Given the description of an element on the screen output the (x, y) to click on. 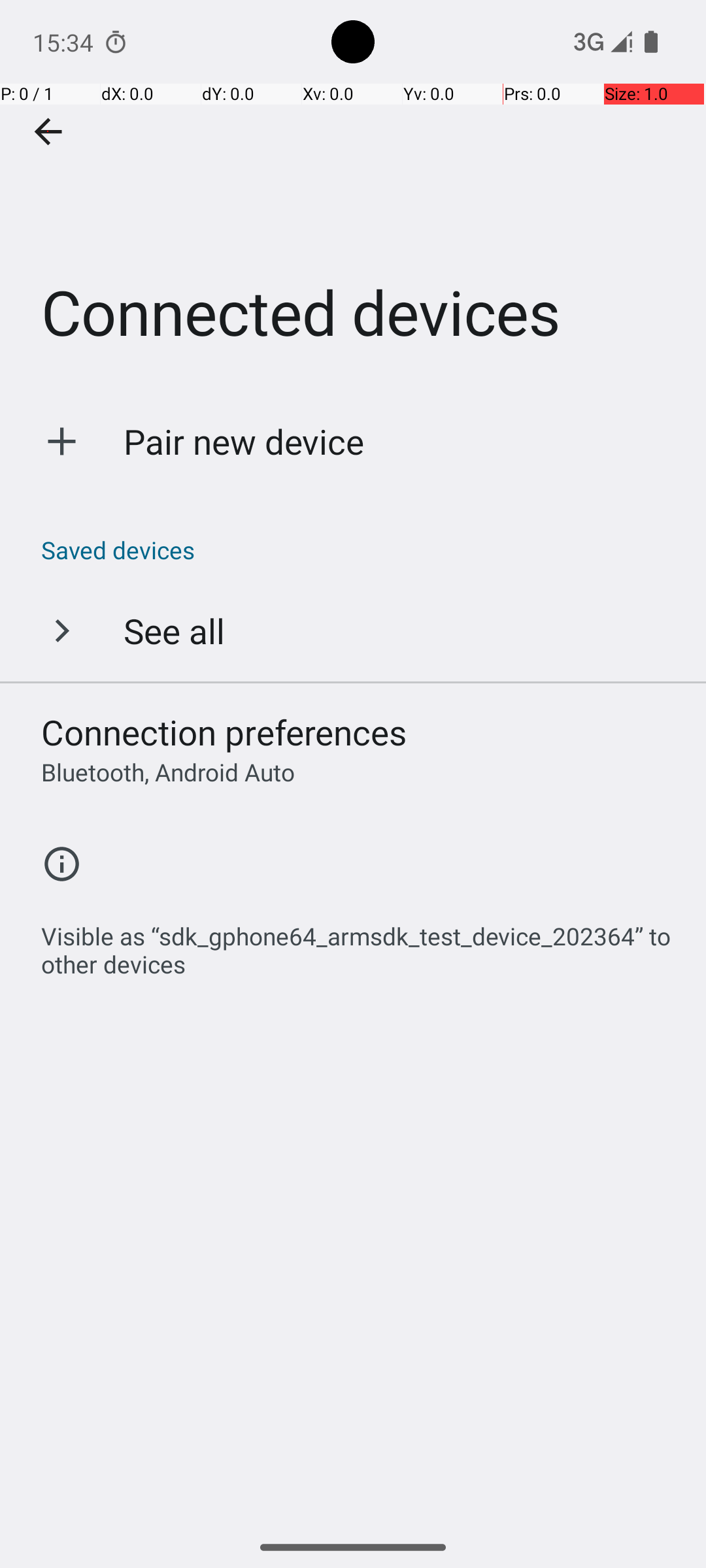
Visible as “sdk_gphone64_armsdk_test_device_202364” to other devices Element type: android.widget.TextView (359, 942)
